Given the description of an element on the screen output the (x, y) to click on. 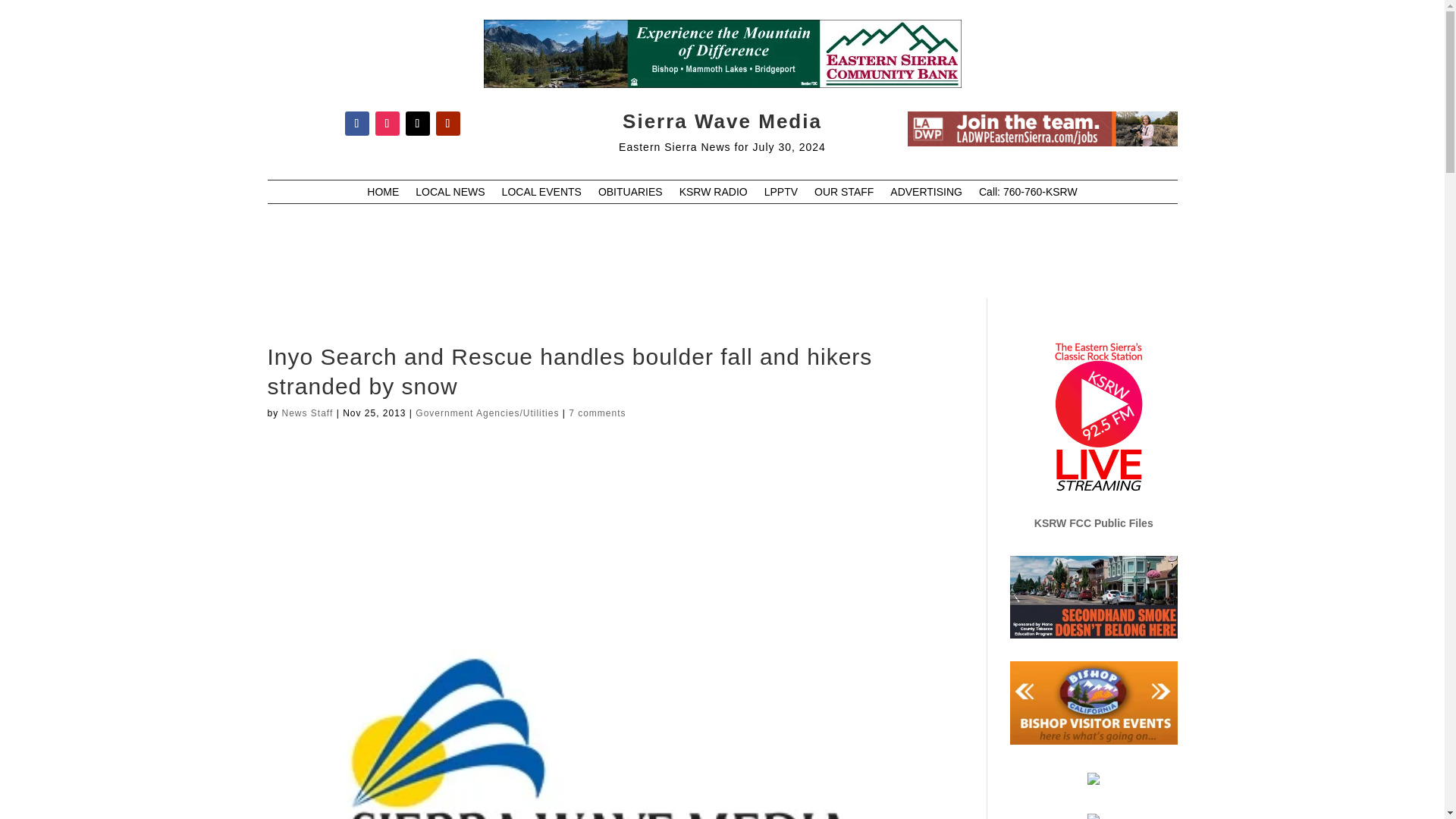
Home (382, 194)
Follow on Facebook (355, 123)
HOME (382, 194)
LOCAL EVENTS (541, 194)
OBITUARIES (630, 194)
Follow on X (416, 123)
KSRW RADIO (713, 194)
KSRW FCC Public Files (1093, 522)
LPPTV (780, 194)
dec (1041, 128)
Call: 760-760-KSRW (1027, 194)
Advertising (925, 194)
Posts by News Staff (307, 412)
7 comments (597, 412)
News Staff (307, 412)
